Given the description of an element on the screen output the (x, y) to click on. 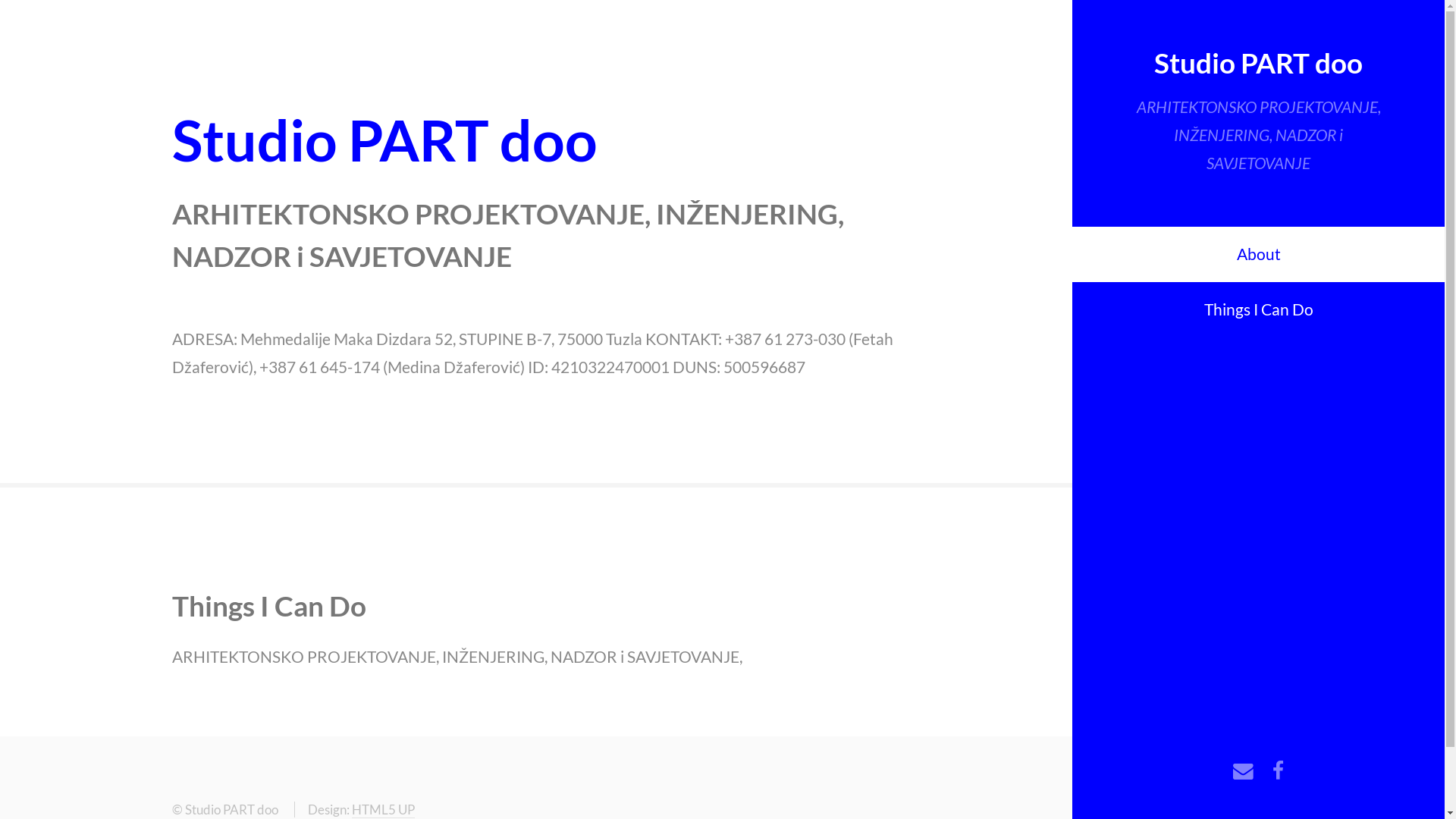
About Element type: text (1258, 254)
Facebook Element type: hover (1277, 771)
Email Element type: hover (1243, 771)
Studio PART doo Element type: text (1258, 62)
HTML5 UP Element type: text (382, 809)
Things I Can Do Element type: text (1258, 310)
